Given the description of an element on the screen output the (x, y) to click on. 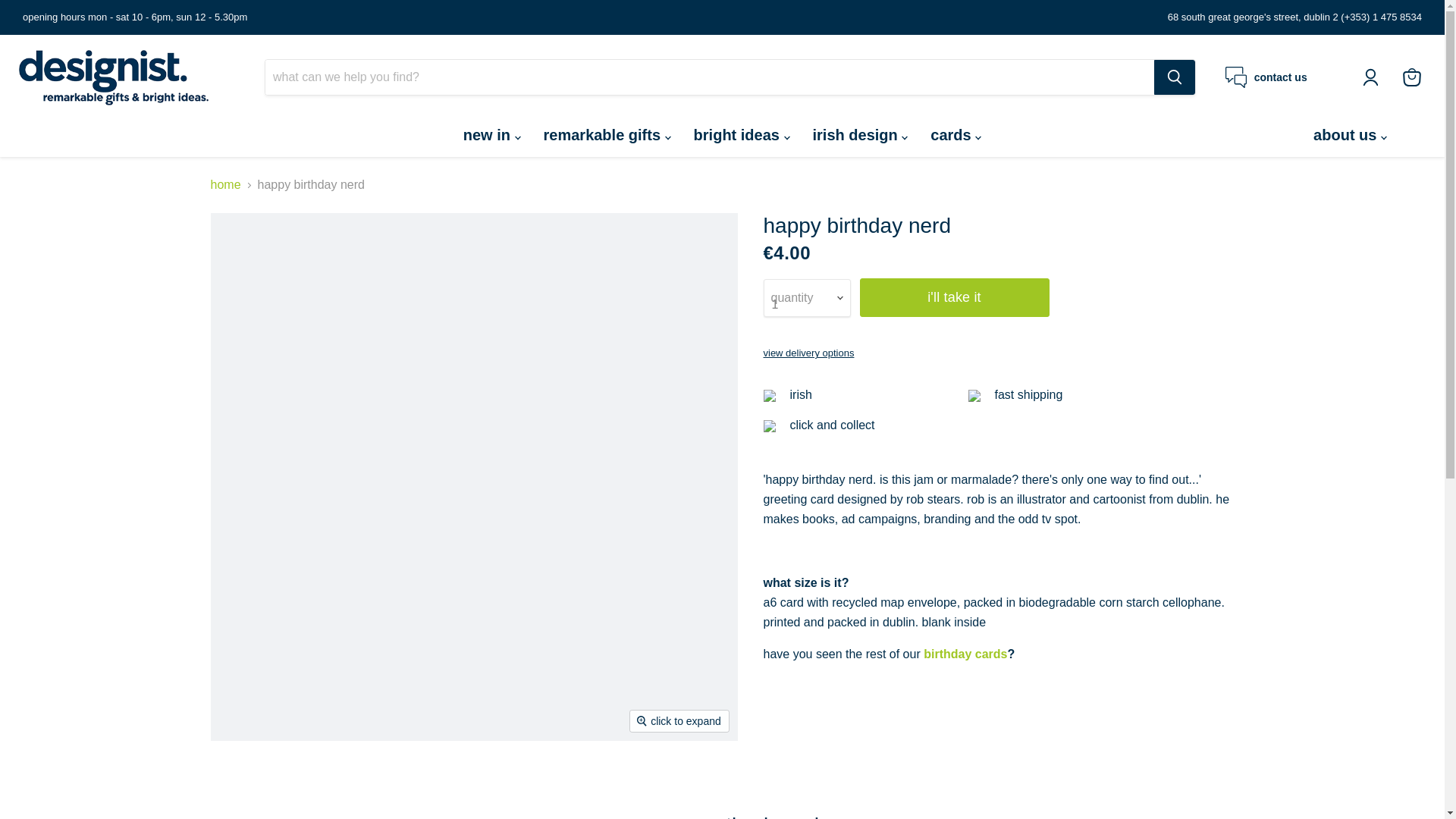
view cart (1411, 77)
remarkable gifts (607, 134)
new in (491, 134)
contact us (1266, 76)
